Given the description of an element on the screen output the (x, y) to click on. 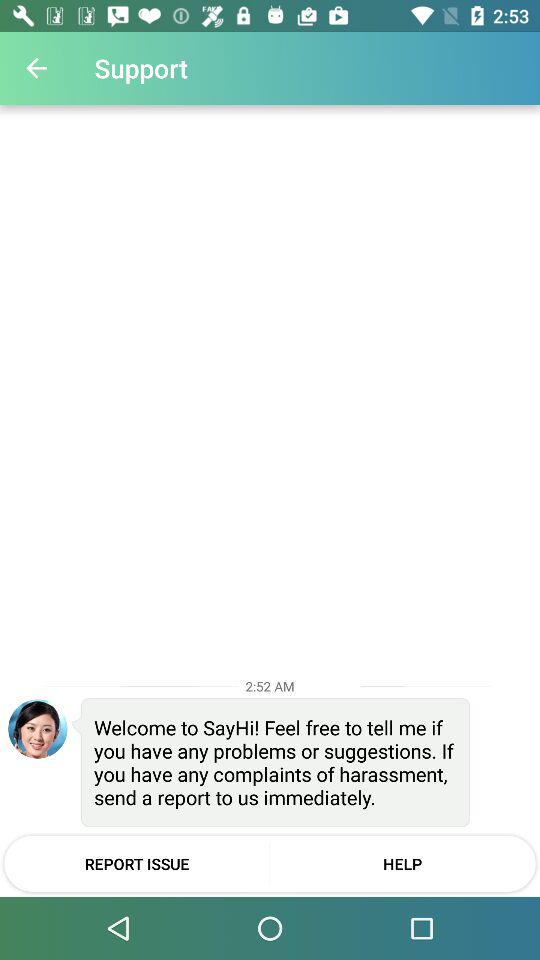
press the icon to the right of report issue (402, 863)
